Given the description of an element on the screen output the (x, y) to click on. 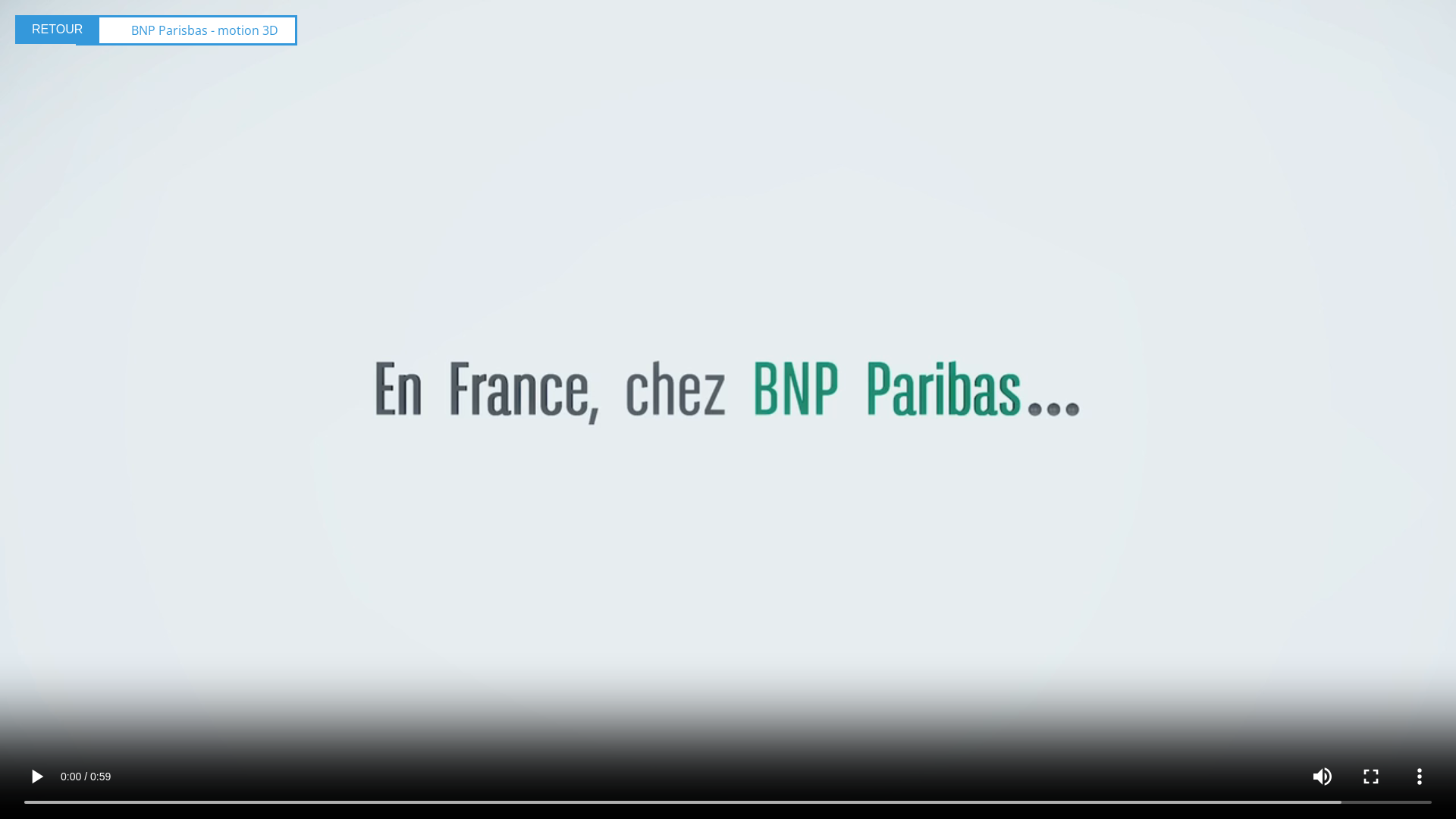
RETOUR Element type: text (57, 29)
